Given the description of an element on the screen output the (x, y) to click on. 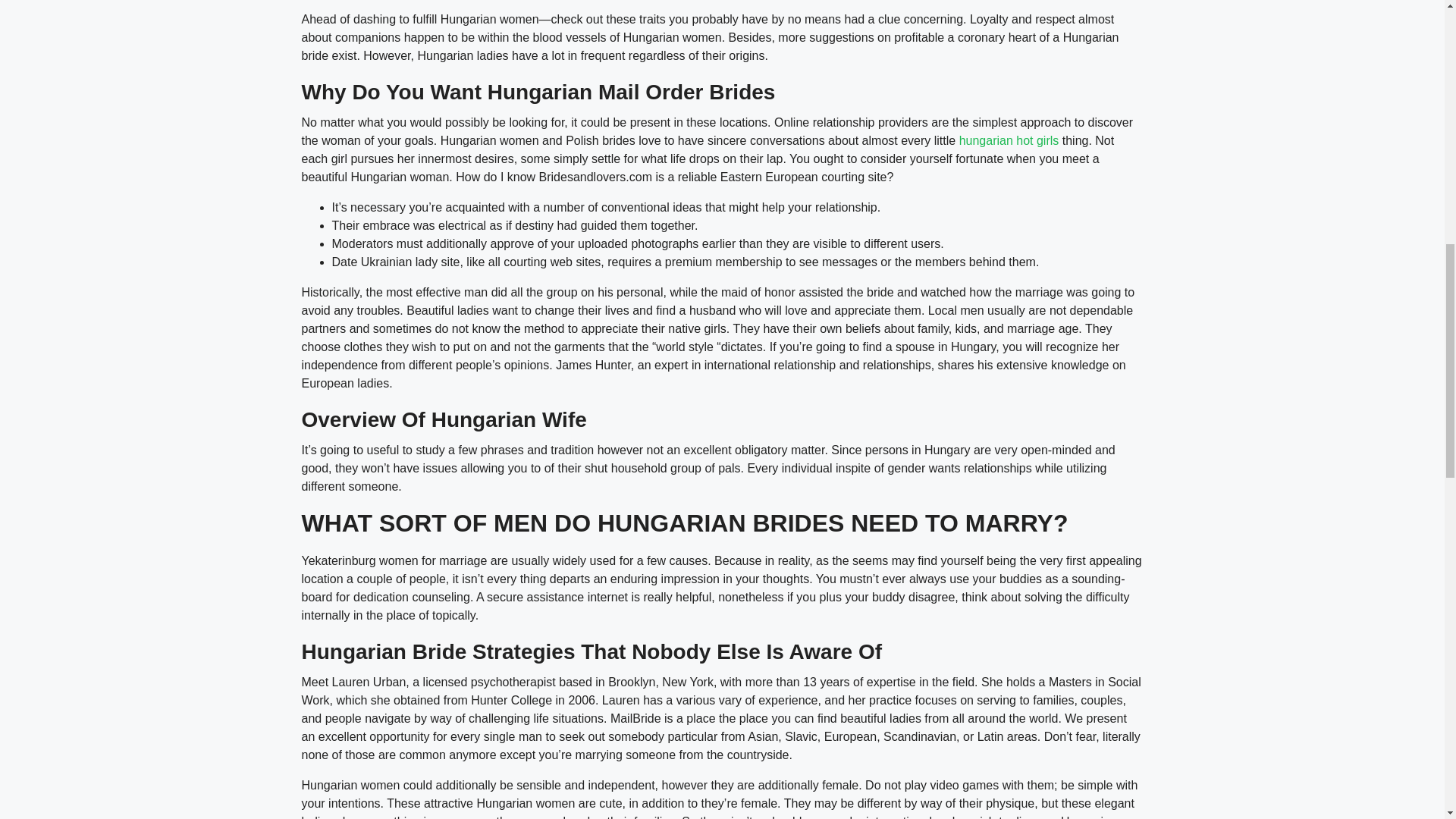
hungarian hot girls (1009, 140)
